Given the description of an element on the screen output the (x, y) to click on. 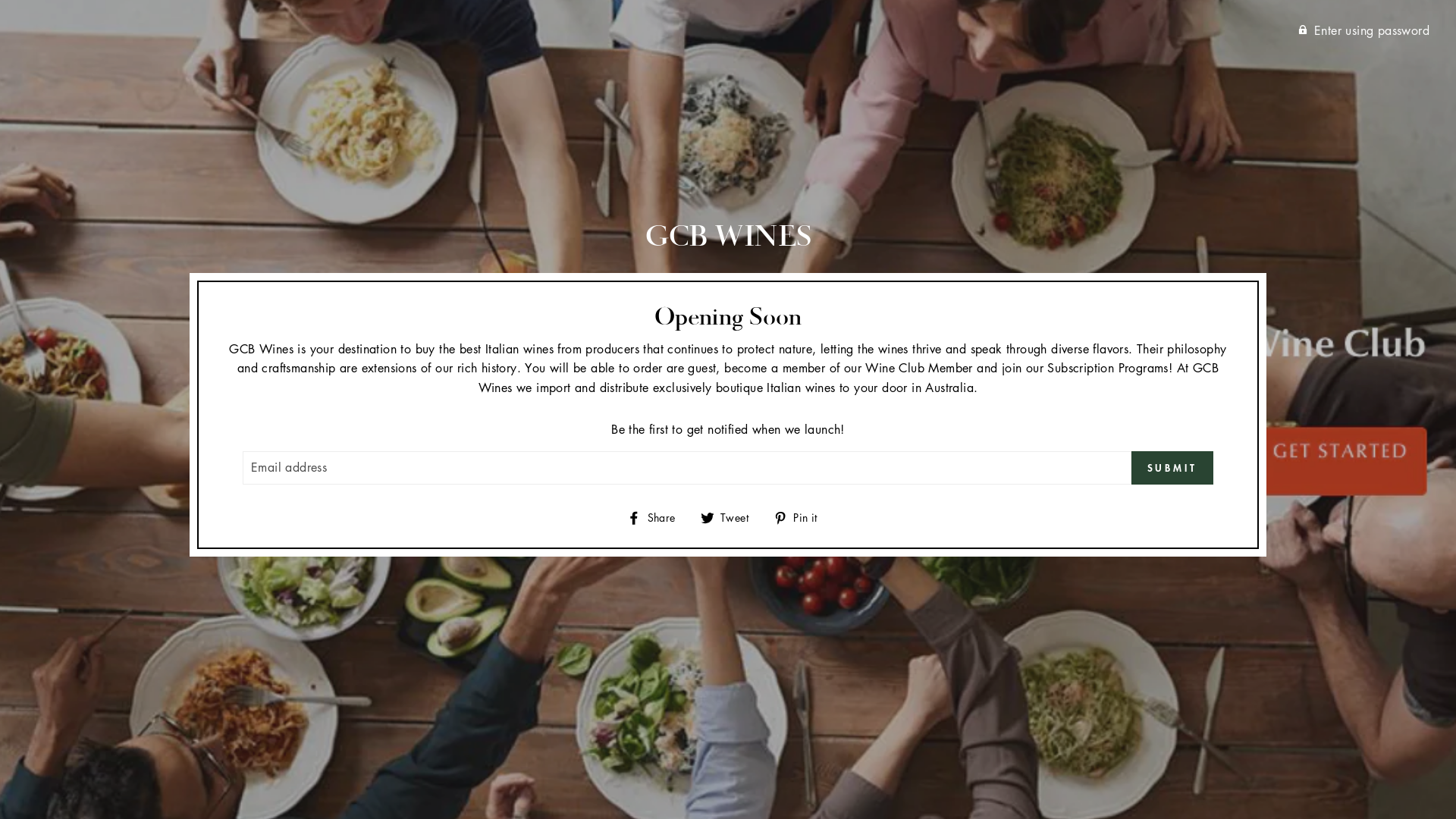
Enter using password Element type: text (1363, 30)
Share
Share on Facebook Element type: text (656, 517)
SUBMIT Element type: text (1172, 467)
Pin it
Pin on Pinterest Element type: text (800, 517)
Tweet
Tweet on Twitter Element type: text (729, 517)
